Given the description of an element on the screen output the (x, y) to click on. 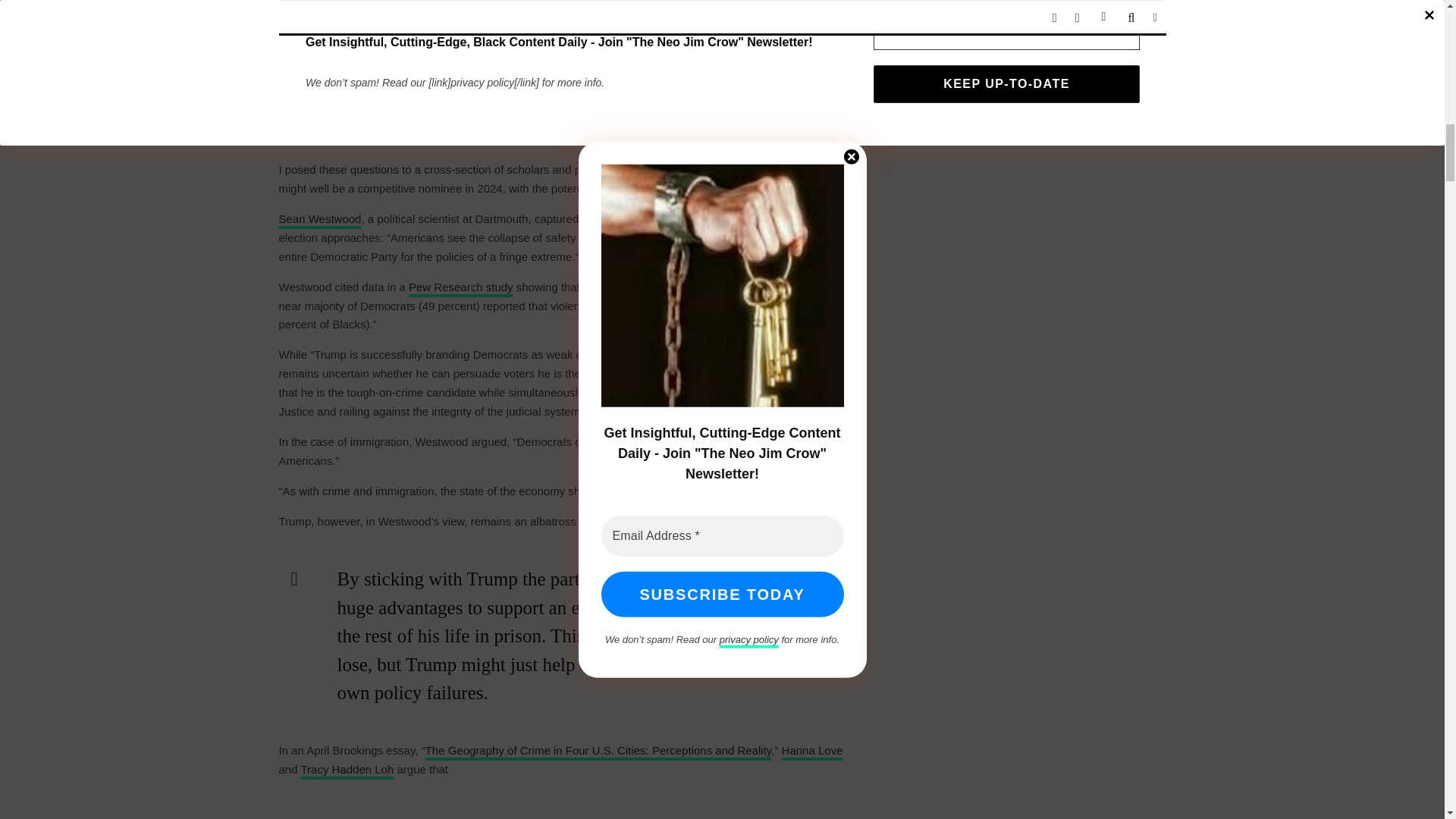
Hanna Love (812, 749)
Tracy Hadden Loh (346, 768)
inflation (463, 51)
Pew Research study (461, 286)
Sean Westwood (320, 218)
